Given the description of an element on the screen output the (x, y) to click on. 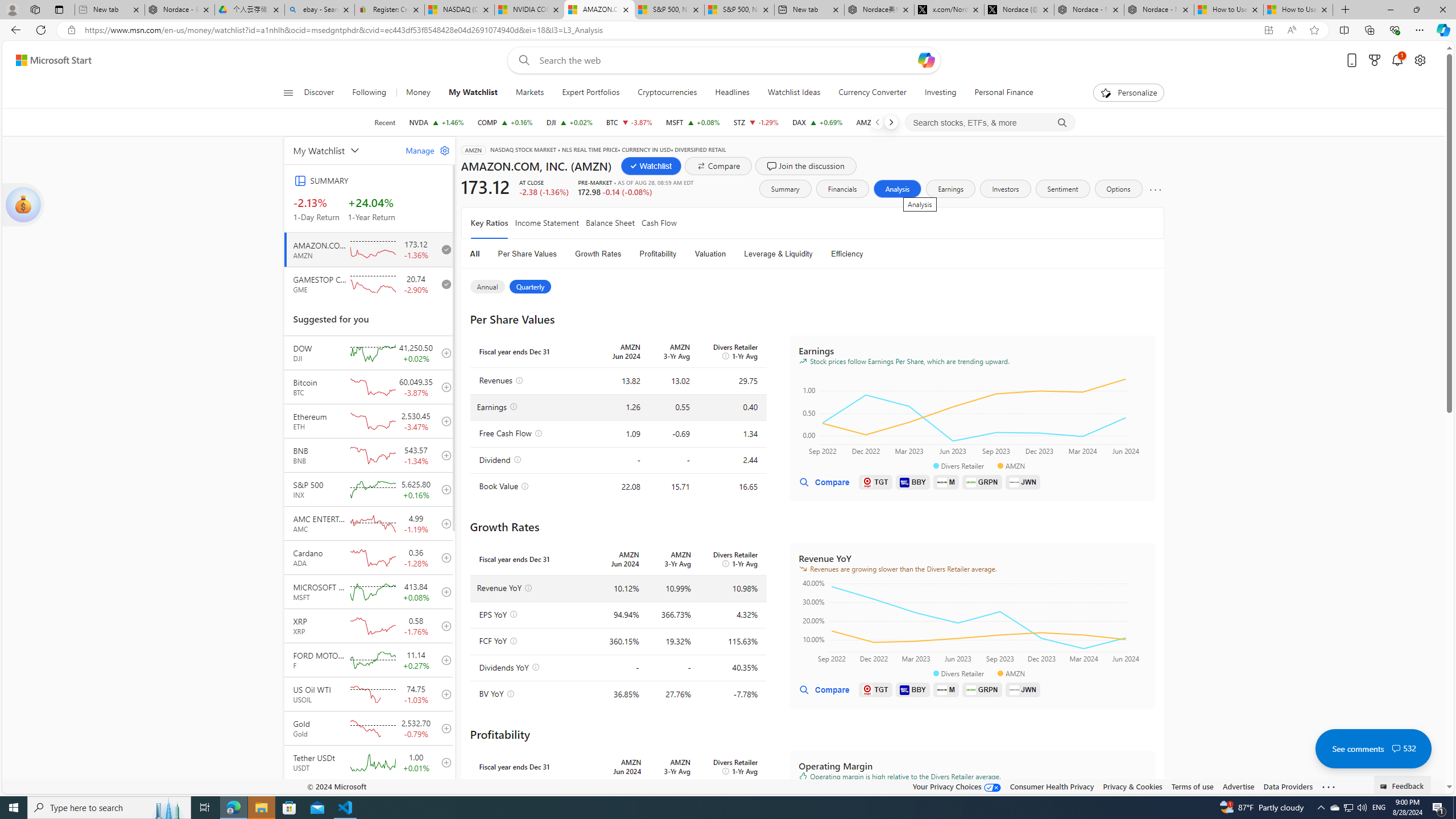
Register: Create a personal eBay account (389, 9)
Headlines (731, 92)
BTC Bitcoin decrease 60,049.35 -2,320.91 -3.87% (628, 122)
MSFT MICROSOFT CORPORATION increase 413.84 +0.35 +0.08% (692, 122)
Leverage & Liquidity (778, 253)
remove from your watchlist (442, 283)
Enter your search term (726, 59)
Feedback (1402, 784)
